Given the description of an element on the screen output the (x, y) to click on. 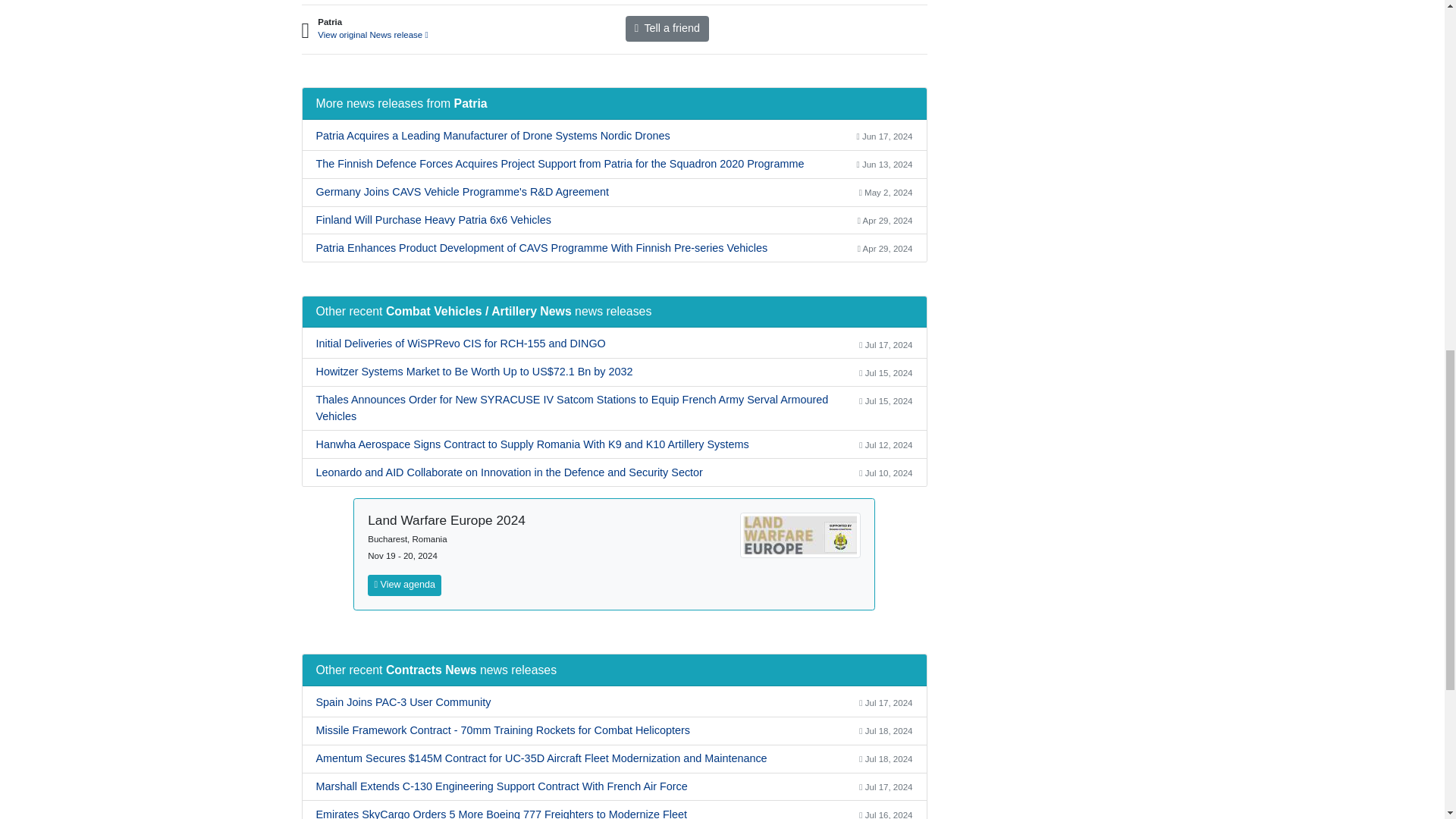
View original News release (372, 34)
Tell a friend (667, 28)
